Given the description of an element on the screen output the (x, y) to click on. 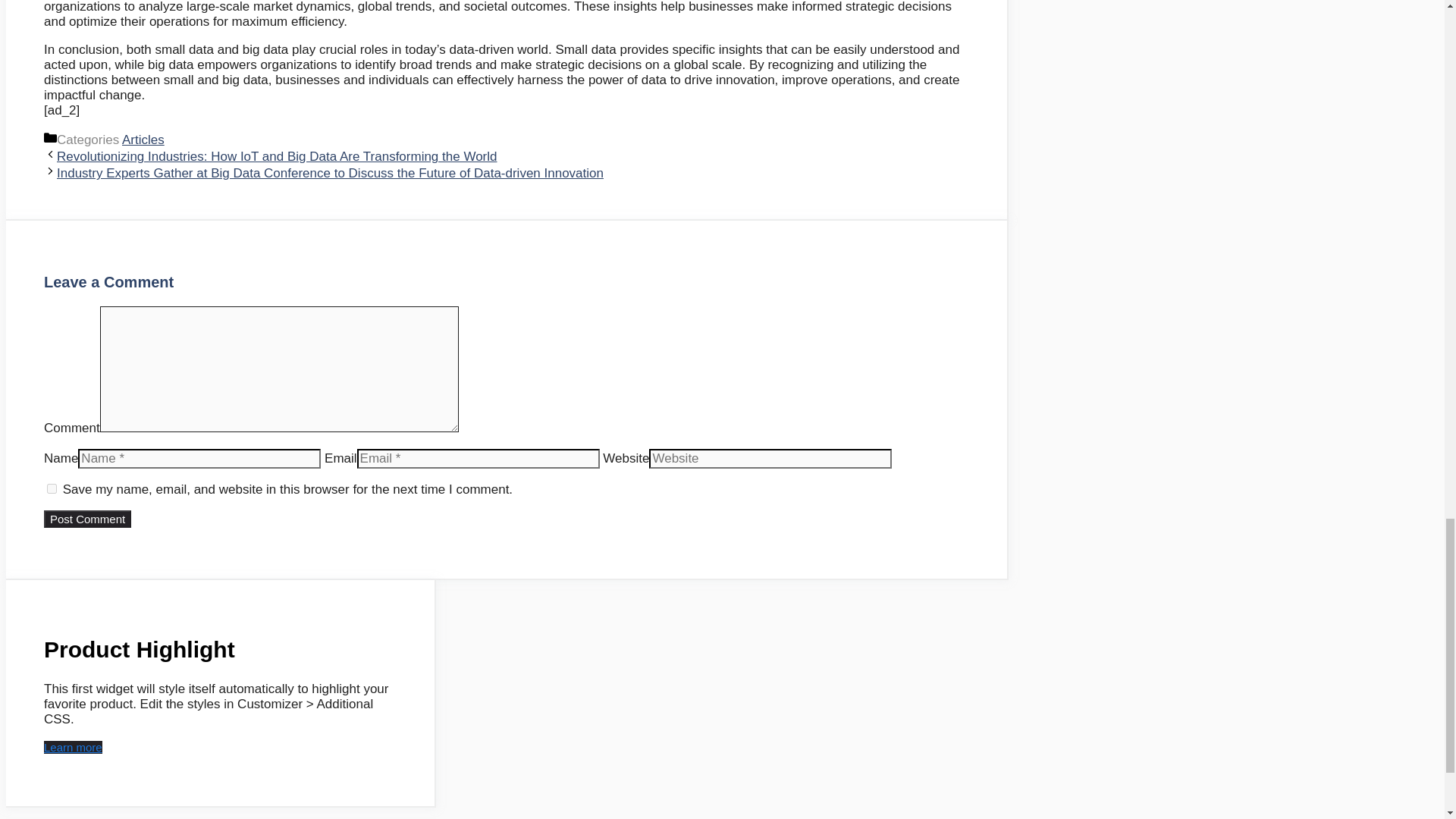
yes (51, 488)
Learn more (72, 747)
Post Comment (87, 518)
Post Comment (87, 518)
Articles (143, 139)
